Given the description of an element on the screen output the (x, y) to click on. 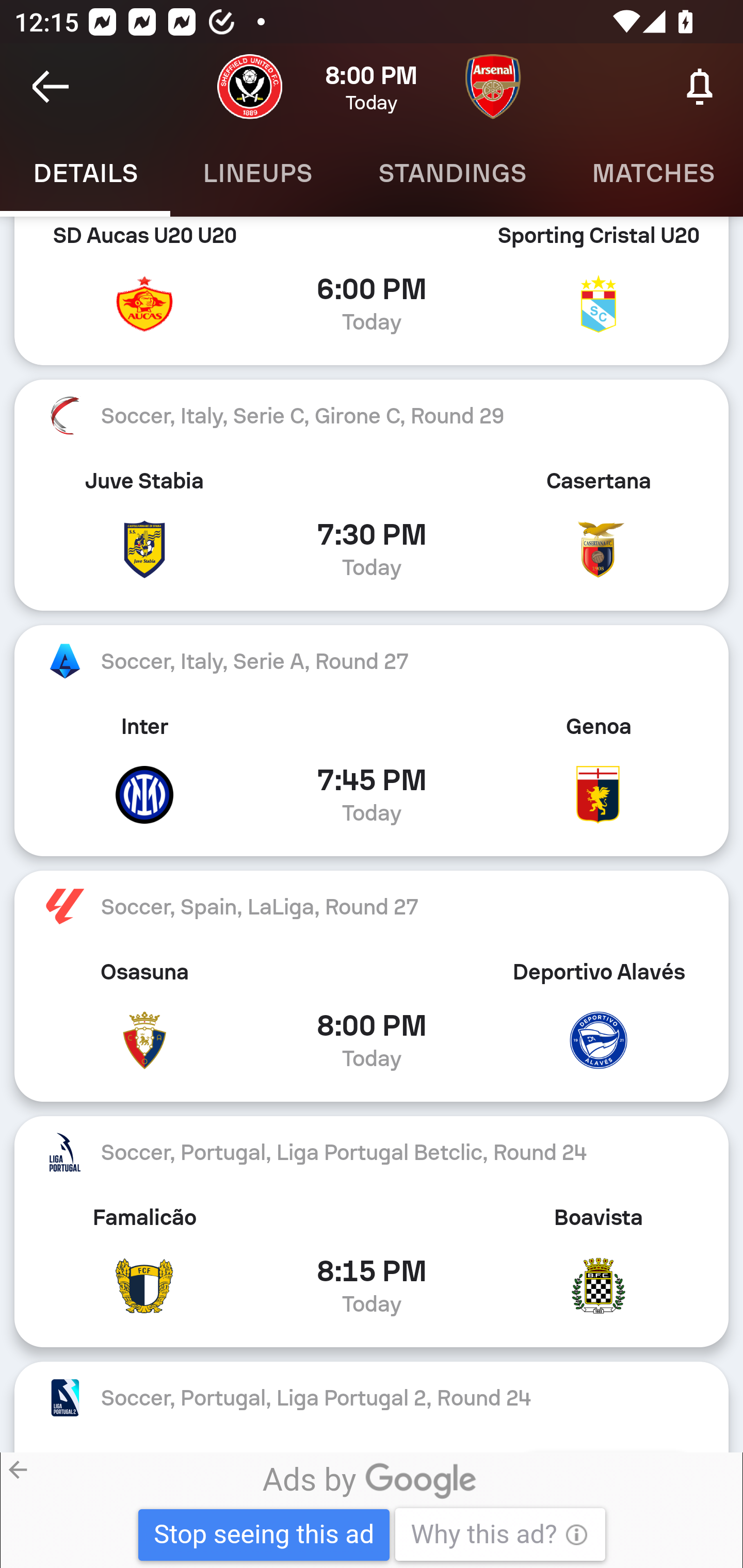
Navigate up (50, 86)
Lineups LINEUPS (257, 173)
Standings STANDINGS (451, 173)
Matches MATCHES (650, 173)
Soccer, Italy, Serie C, Girone C, Round 29 (371, 415)
Soccer, Italy, Serie A, Round 27 (371, 661)
Soccer, Spain, LaLiga, Round 27 (371, 906)
Soccer, Portugal, Liga Portugal Betclic, Round 24 (371, 1152)
Soccer, Portugal, Liga Portugal 2, Round 24 (371, 1397)
